Given the description of an element on the screen output the (x, y) to click on. 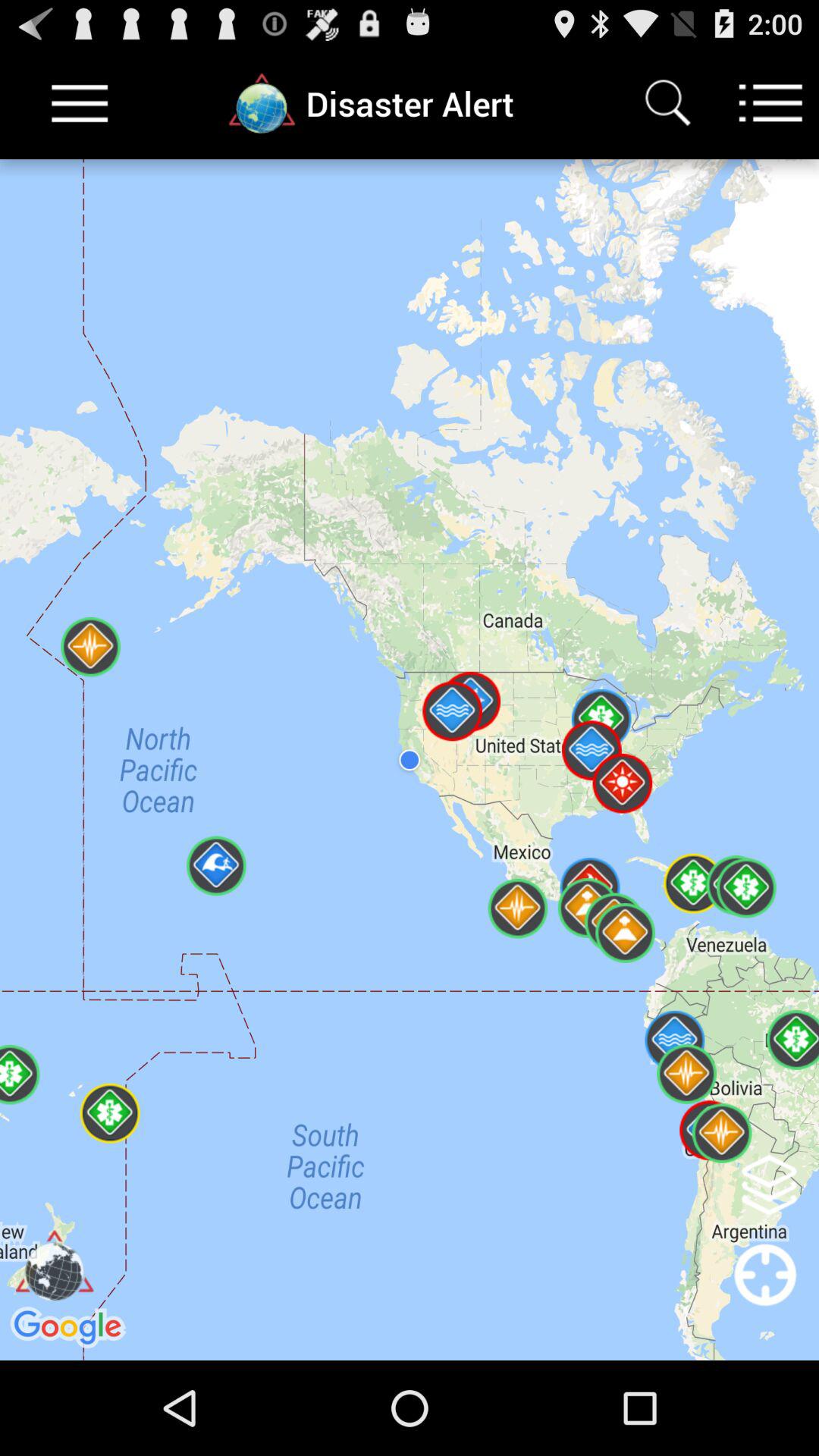
the menu bar (79, 103)
